Given the description of an element on the screen output the (x, y) to click on. 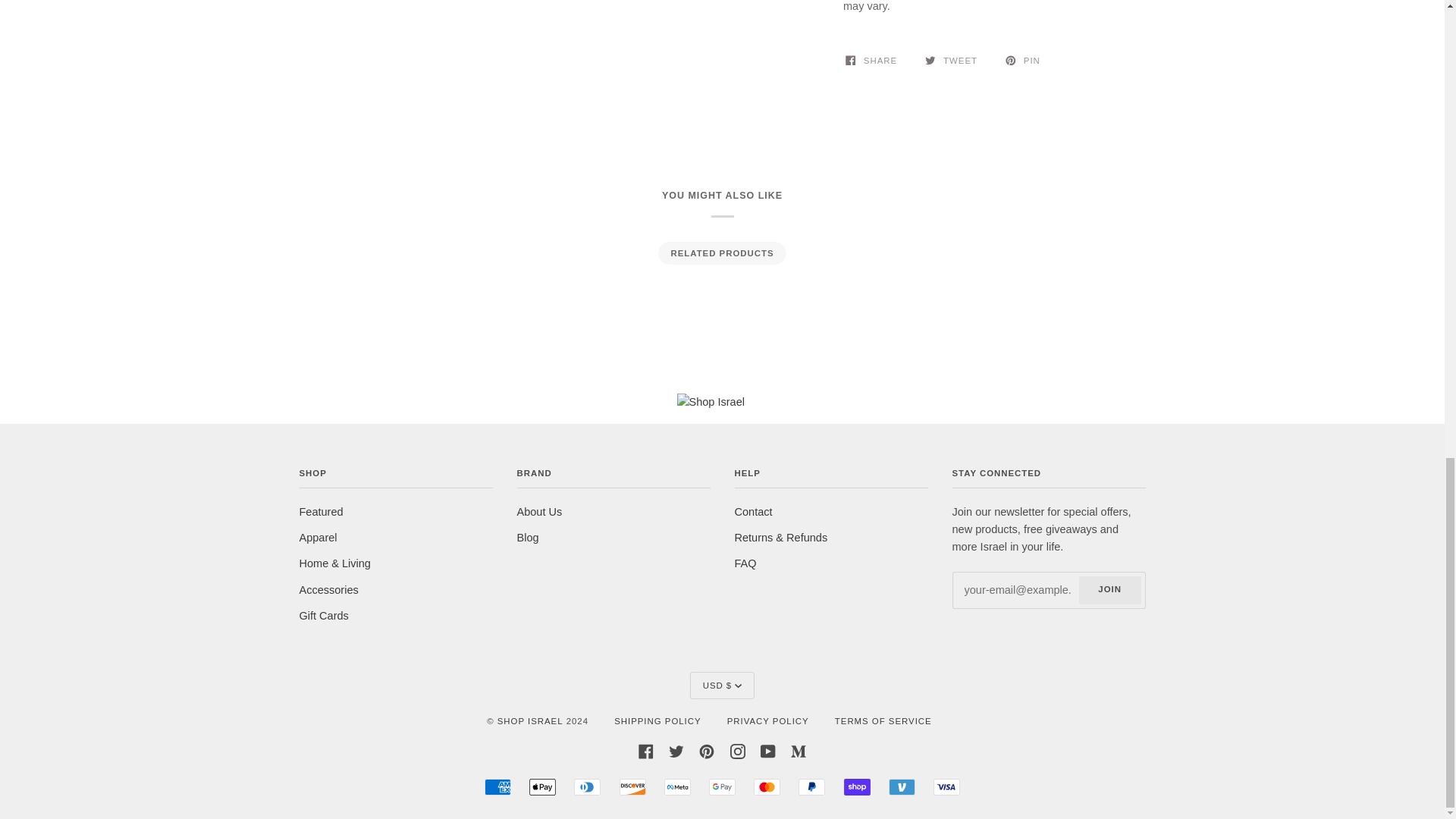
Twitter (676, 750)
AMERICAN EXPRESS (497, 786)
Facebook (646, 750)
YouTube (768, 750)
DINERS CLUB (586, 786)
META PAY (676, 786)
APPLE PAY (542, 786)
Medium (798, 750)
RELATED PRODUCTS (721, 252)
PAYPAL (811, 786)
MASTERCARD (767, 786)
DISCOVER (633, 786)
GOOGLE PAY (722, 786)
Instagram (737, 750)
Pinterest (706, 750)
